Given the description of an element on the screen output the (x, y) to click on. 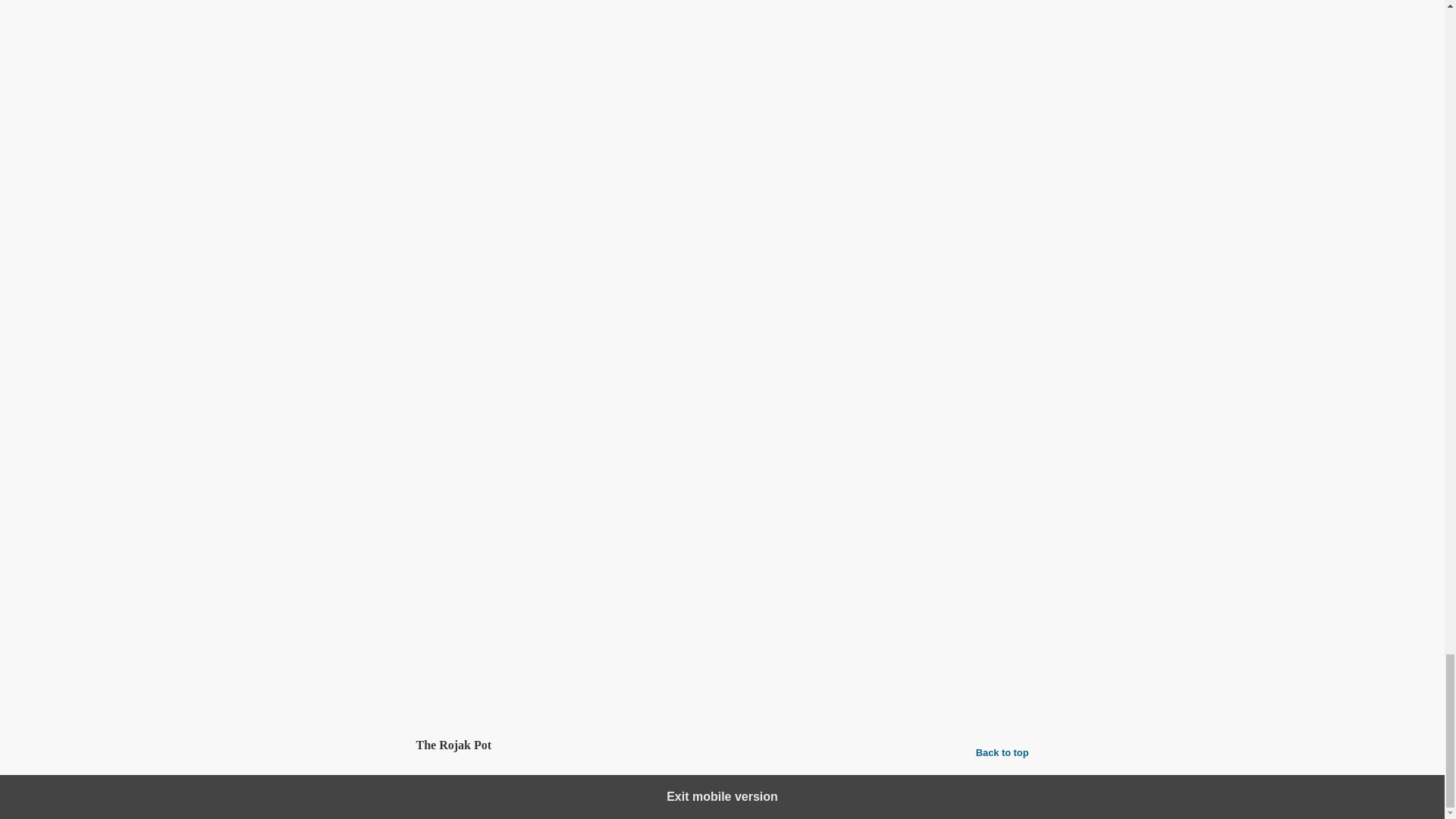
donating to our fund (802, 554)
Fact (820, 621)
anti vaccination (481, 621)
antivaxxer (546, 621)
Celebrities (497, 589)
Fact Check (864, 621)
Florida (997, 621)
facebook (784, 621)
Malaysia Brakes On Quarantine-Free International Travel! (582, 395)
death (743, 621)
